Given the description of an element on the screen output the (x, y) to click on. 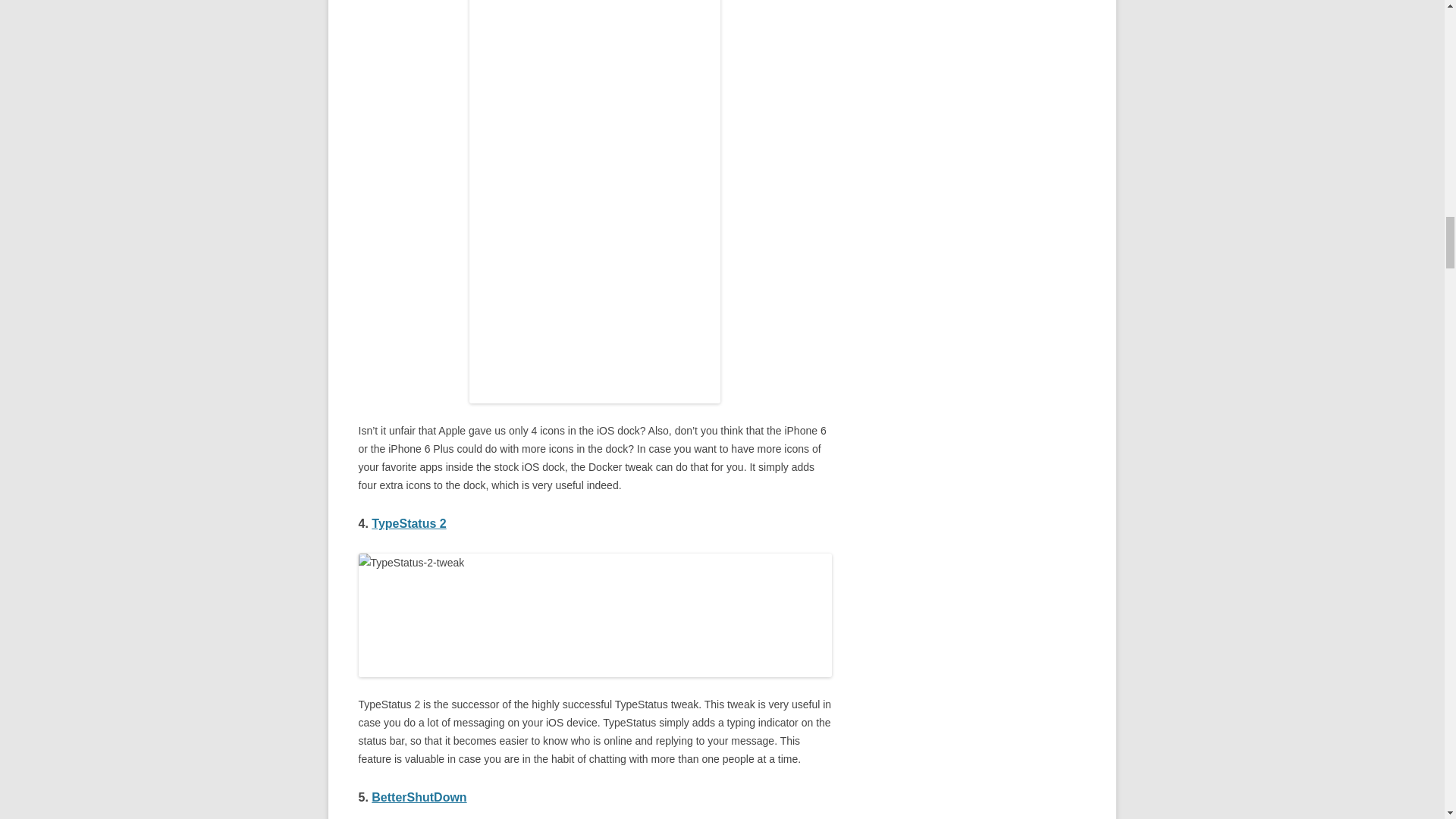
TypeStatus 2 (408, 522)
BetterShutDown (418, 797)
